Given the description of an element on the screen output the (x, y) to click on. 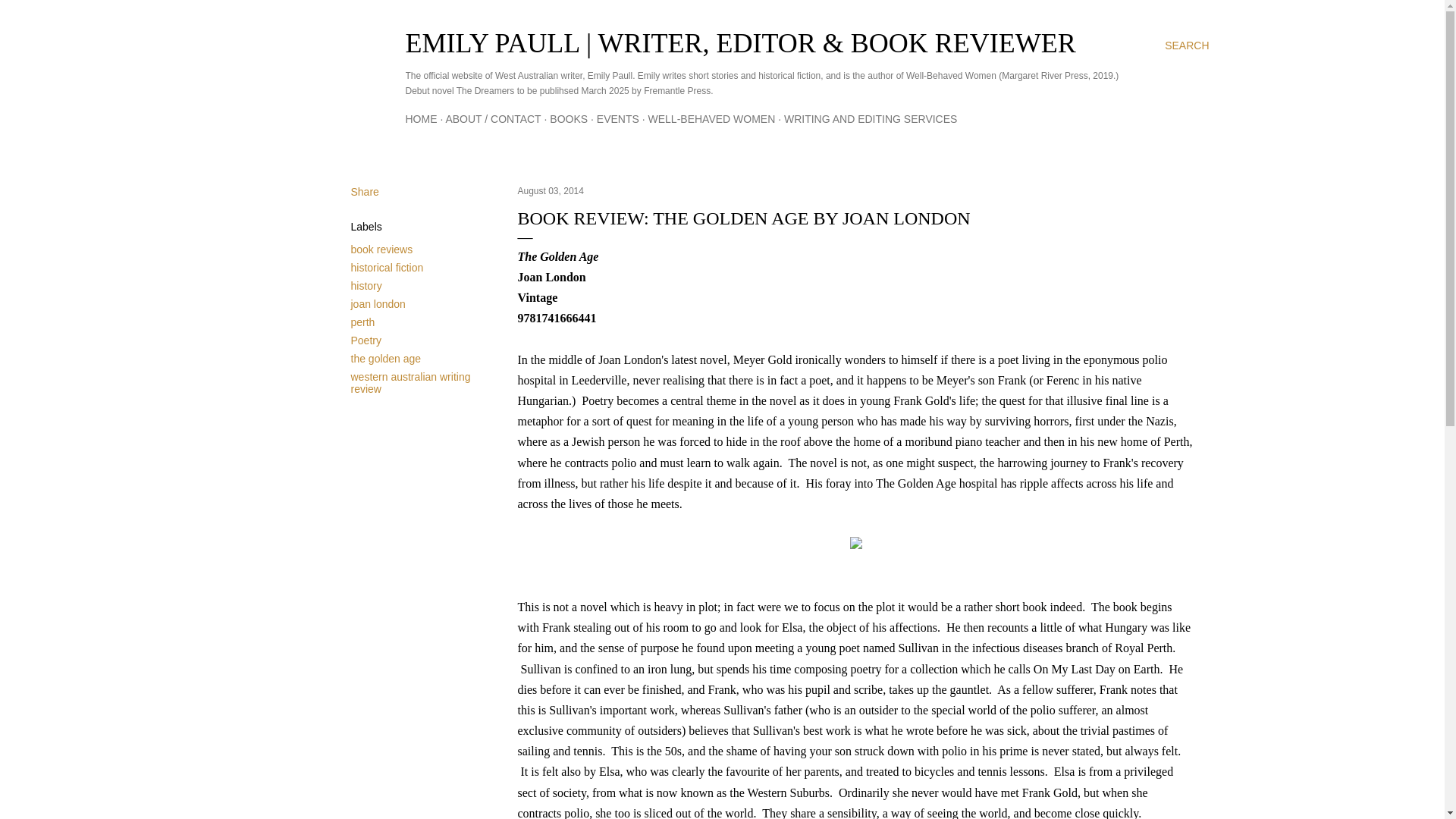
Poetry (365, 340)
western australian writing review (410, 382)
history (365, 285)
perth (362, 322)
the golden age (385, 358)
joan london (377, 304)
permanent link (549, 190)
HOME (420, 119)
SEARCH (1186, 45)
Share (364, 191)
EVENTS (617, 119)
WRITING AND EDITING SERVICES (870, 119)
historical fiction (386, 267)
WELL-BEHAVED WOMEN (711, 119)
book reviews (381, 249)
